Given the description of an element on the screen output the (x, y) to click on. 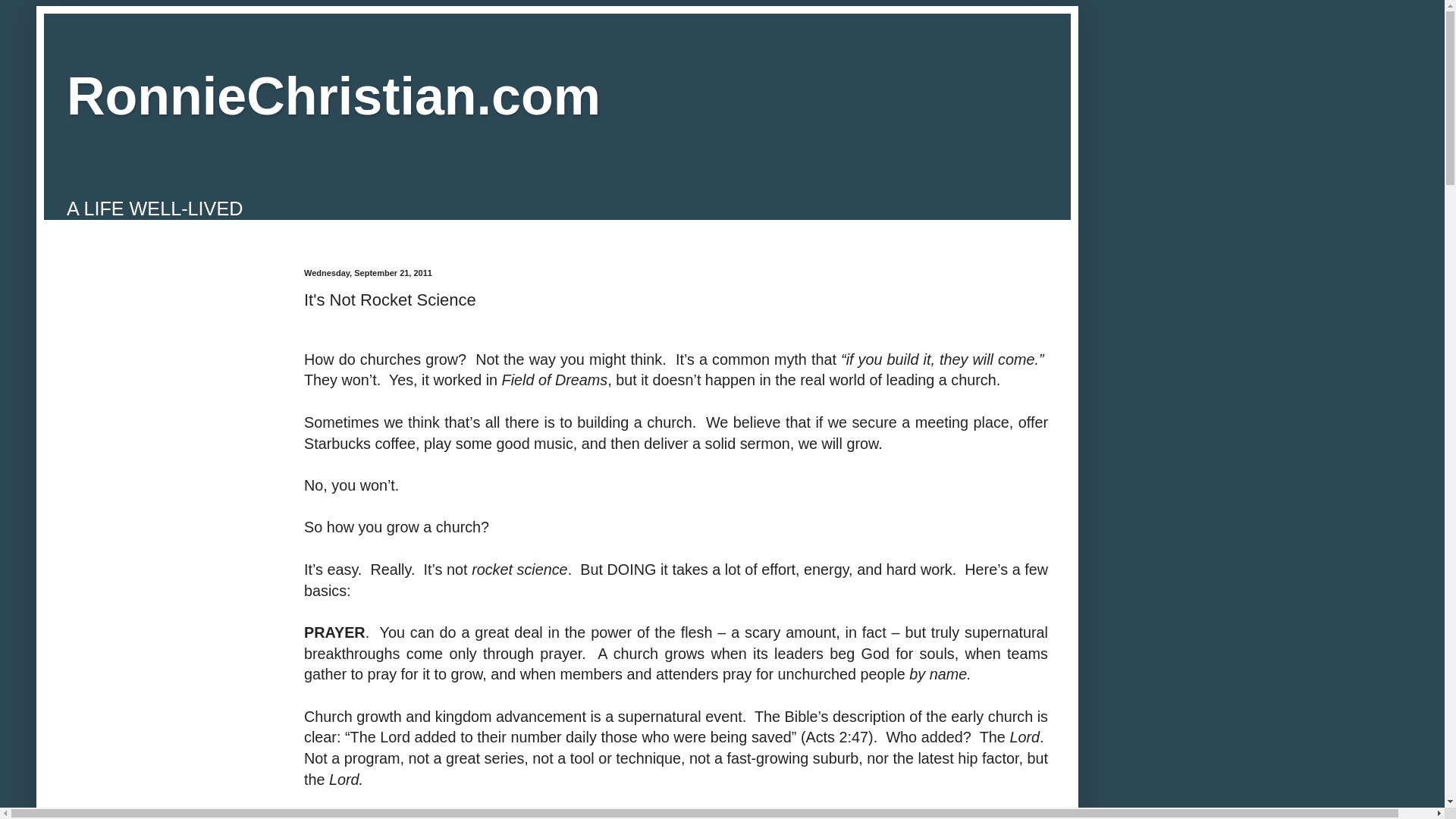
RonnieChristian.com (332, 96)
